Given the description of an element on the screen output the (x, y) to click on. 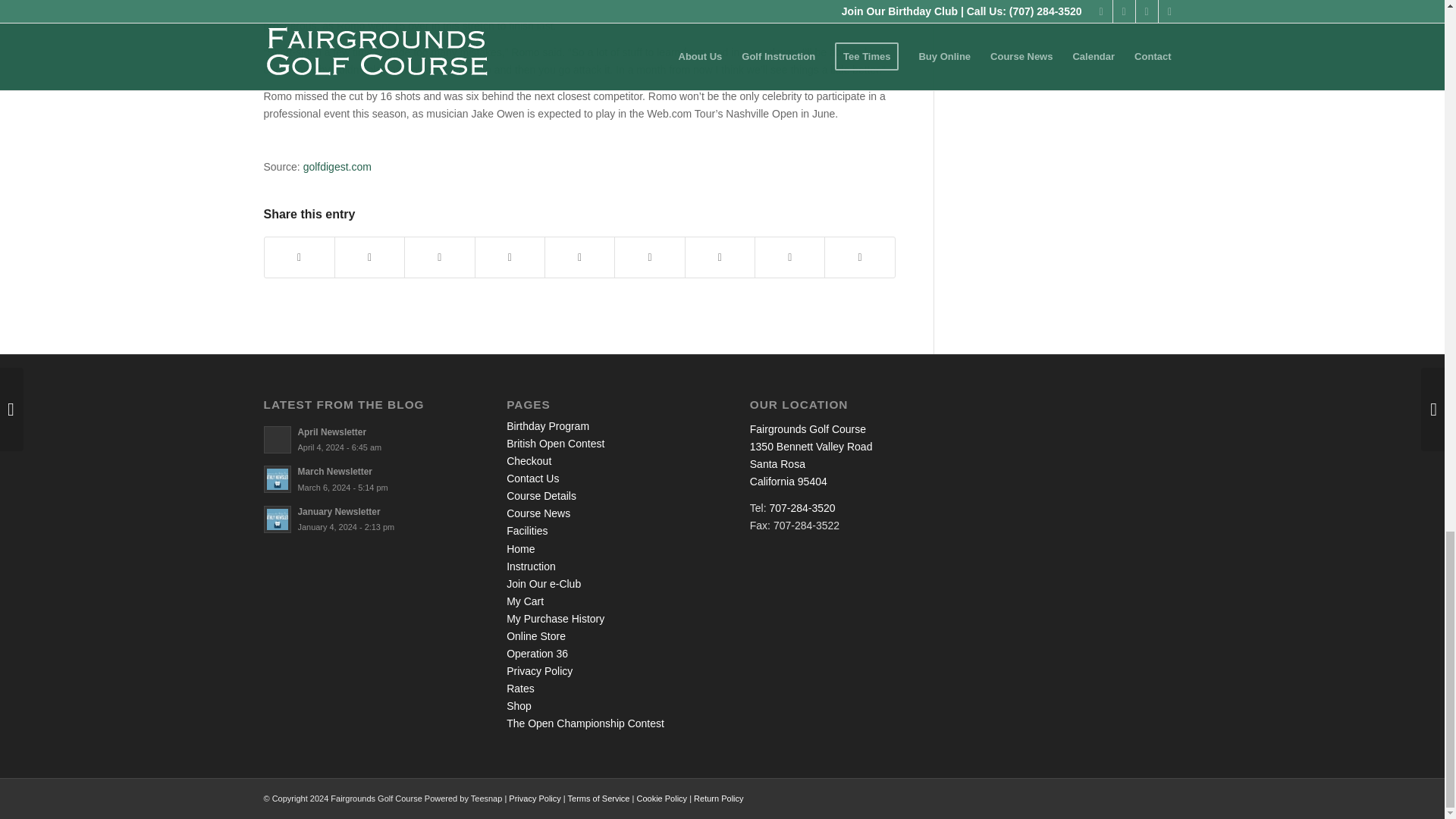
golfdigest.com (336, 166)
